Given the description of an element on the screen output the (x, y) to click on. 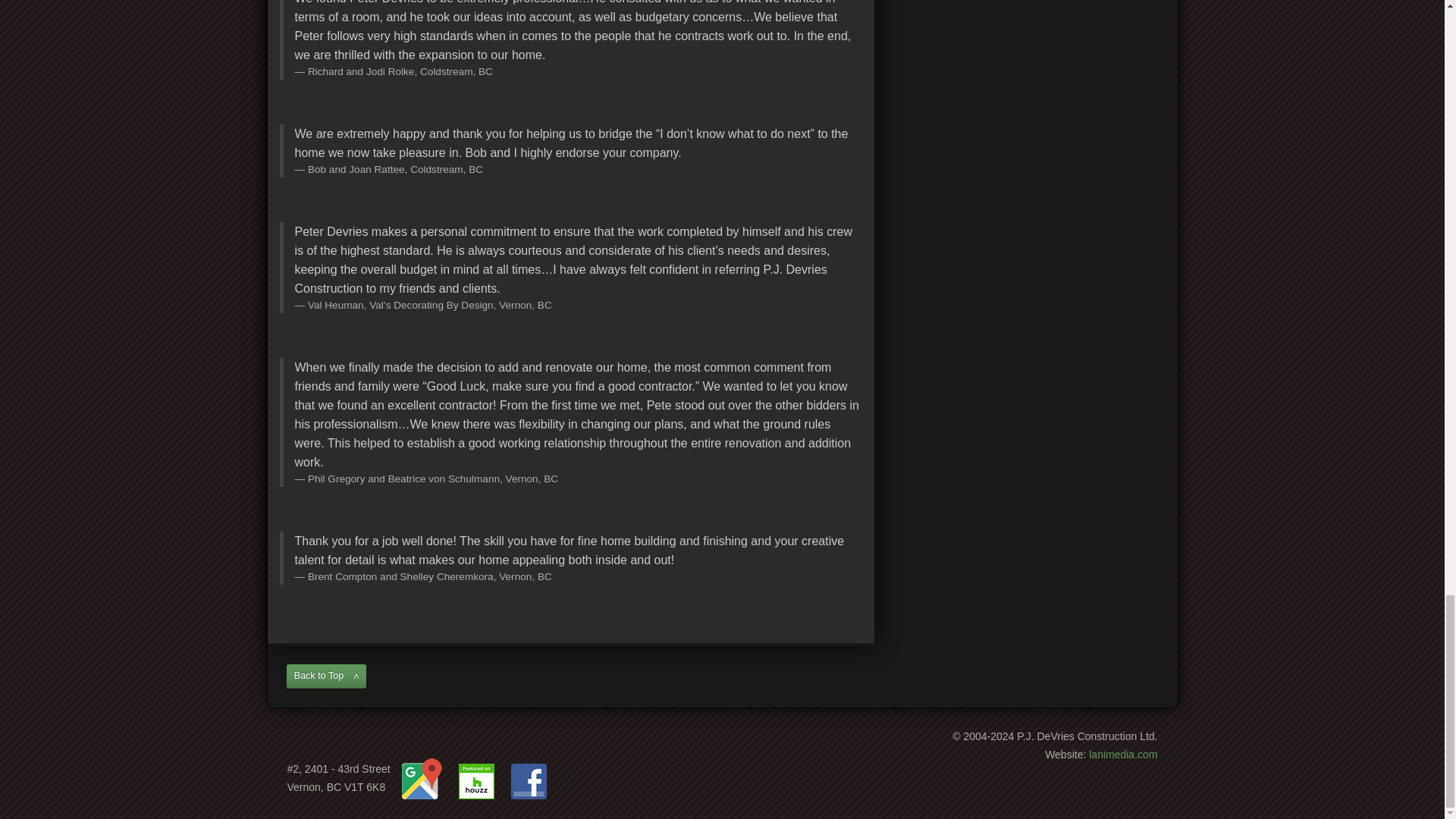
Back to Top (326, 676)
lanimedia.com (1123, 754)
